Given the description of an element on the screen output the (x, y) to click on. 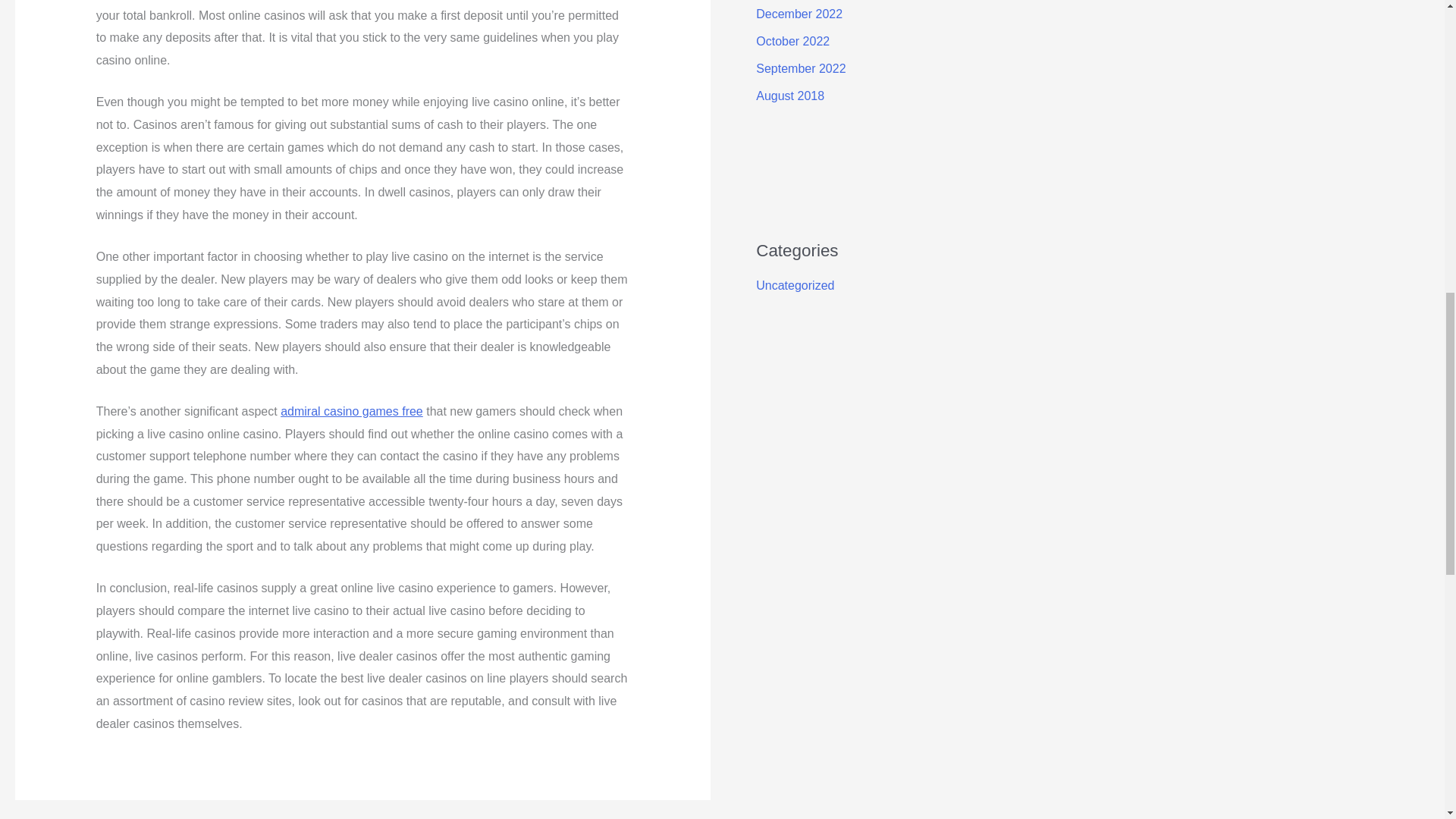
September 2022 (800, 68)
August 2018 (789, 95)
Uncategorized (794, 285)
admiral casino games free (352, 410)
December 2022 (799, 13)
October 2022 (792, 41)
